Given the description of an element on the screen output the (x, y) to click on. 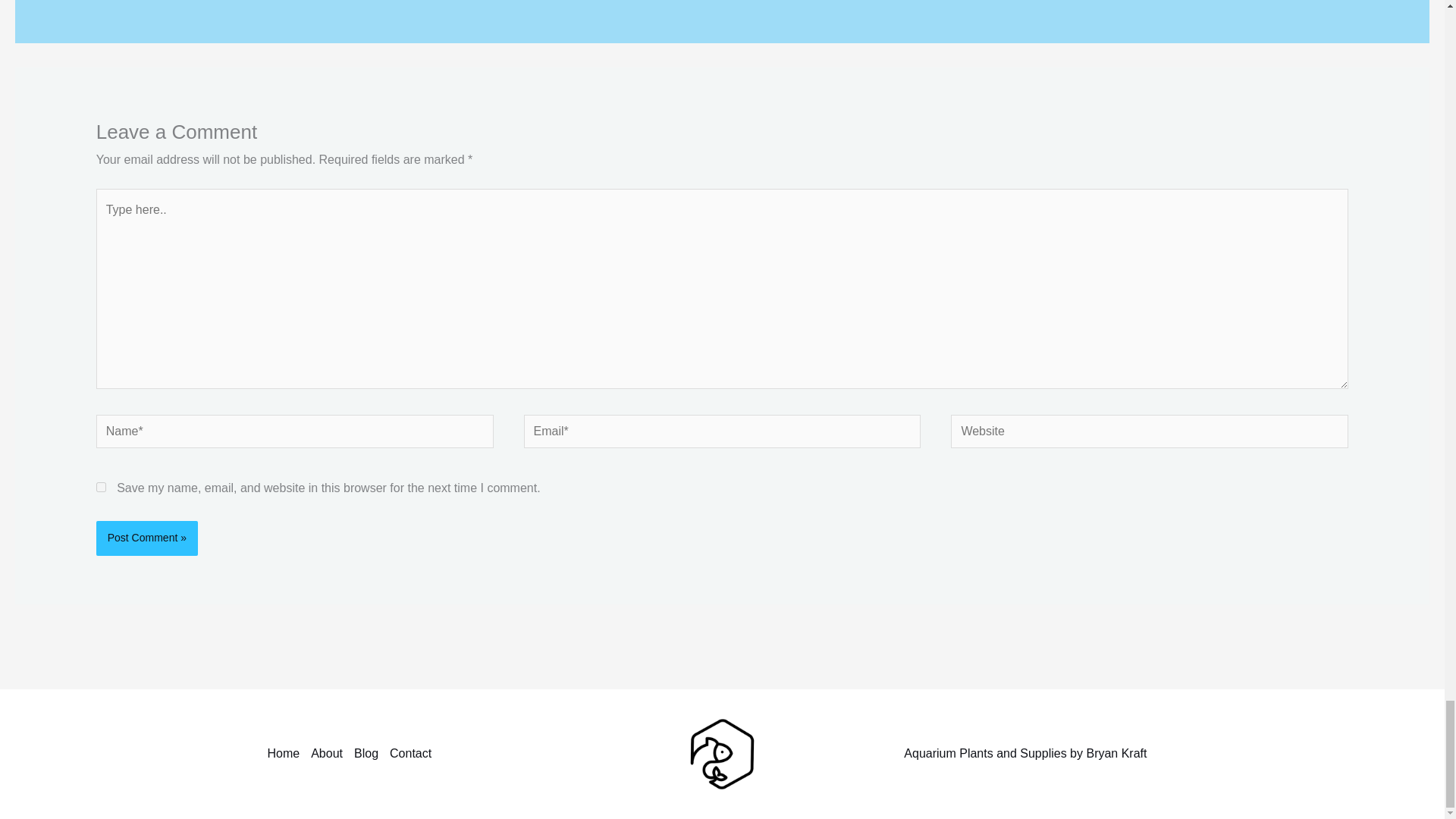
yes (101, 487)
